Given the description of an element on the screen output the (x, y) to click on. 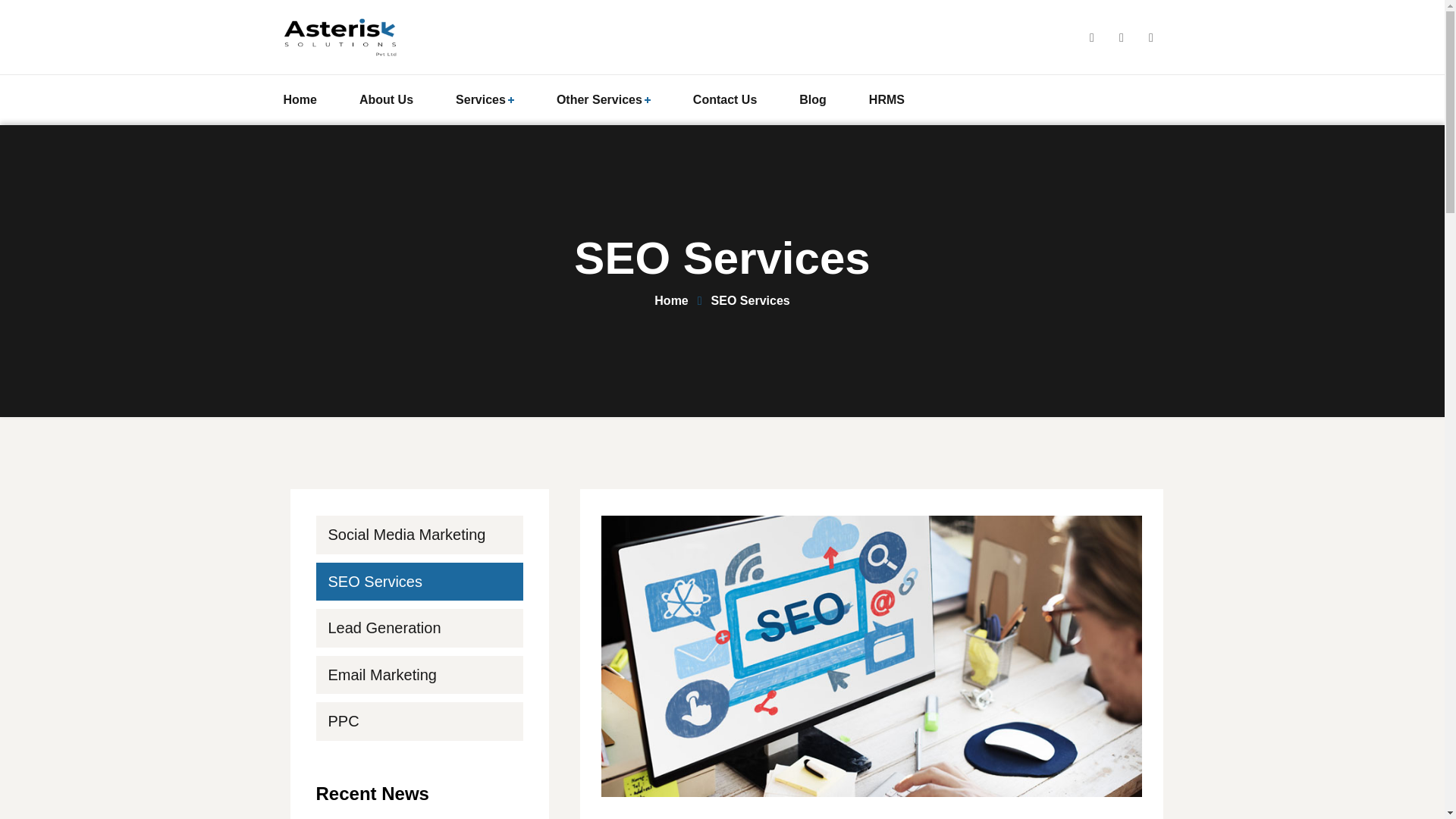
Contact Us (724, 100)
Asterisk Solutions (344, 35)
Services (484, 100)
Other Services (603, 100)
SEO Services (418, 581)
Home (681, 300)
About Us (386, 100)
HRMS (886, 100)
Social Media Marketing (418, 534)
